Given the description of an element on the screen output the (x, y) to click on. 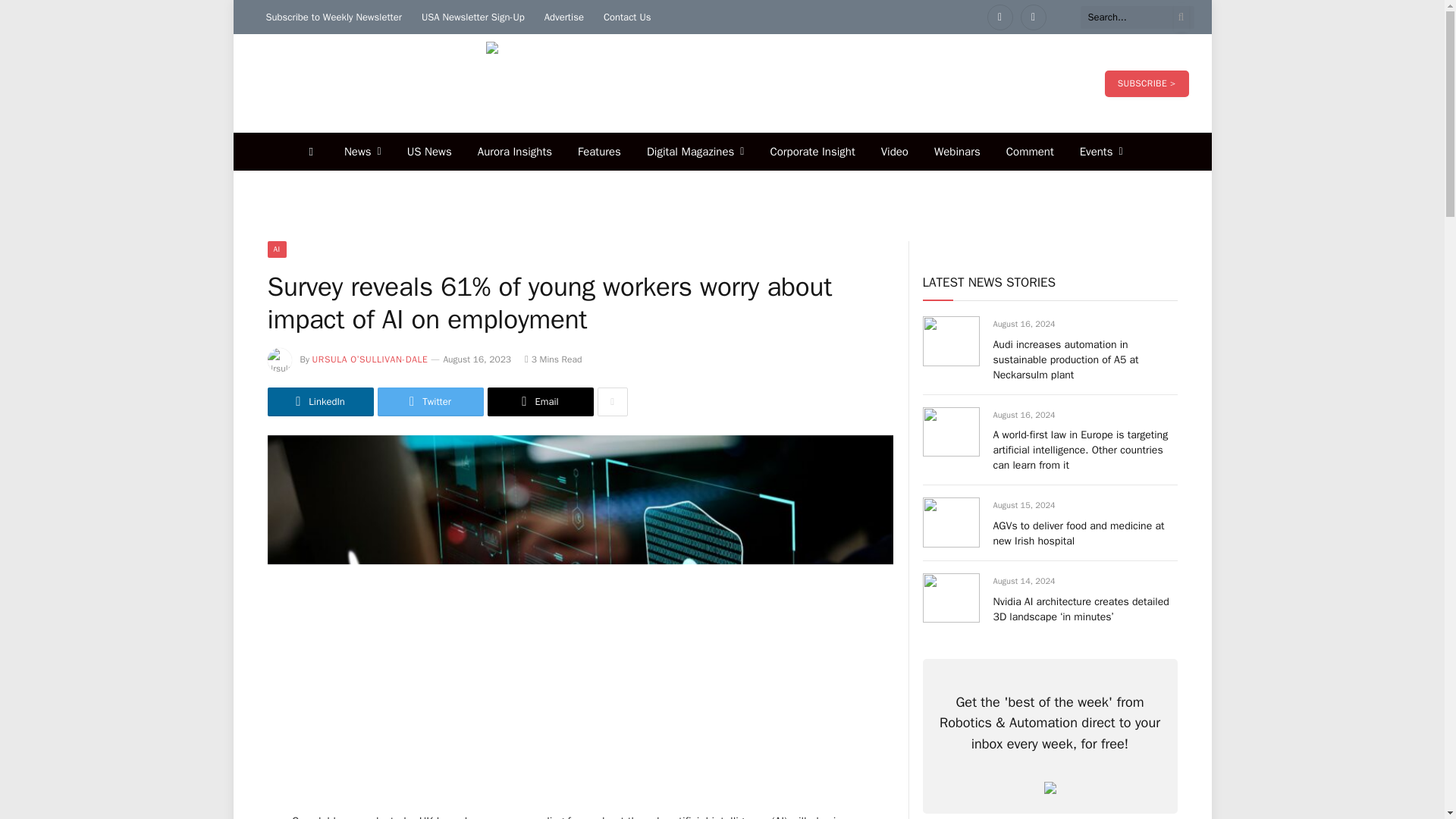
Robotics and Automation (722, 83)
Share on LinkedIn (319, 401)
Share via Email (539, 401)
